Given the description of an element on the screen output the (x, y) to click on. 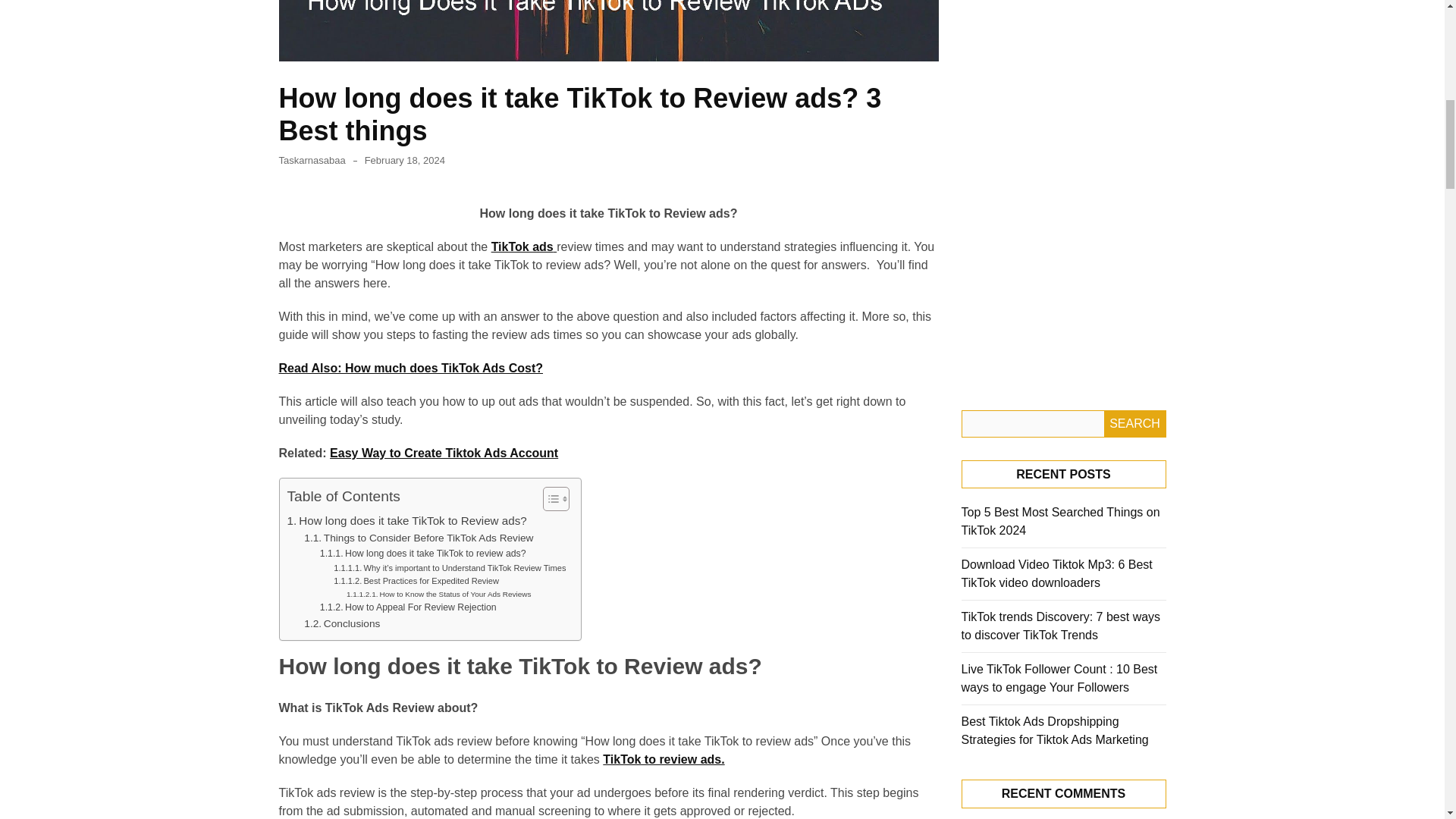
TikTok ads (524, 246)
How to Appeal For Review Rejection (408, 607)
Things to Consider Before TikTok Ads Review (418, 538)
How to Appeal For Review Rejection (408, 607)
Best Practices for Expedited Review (416, 581)
How long does it take TikTok to Review ads? (405, 520)
How to Know the Status of Your Ads Reviews (438, 594)
Taskarnasabaa (312, 160)
Conclusions (342, 623)
How long does it take TikTok to Review ads? (405, 520)
